Given the description of an element on the screen output the (x, y) to click on. 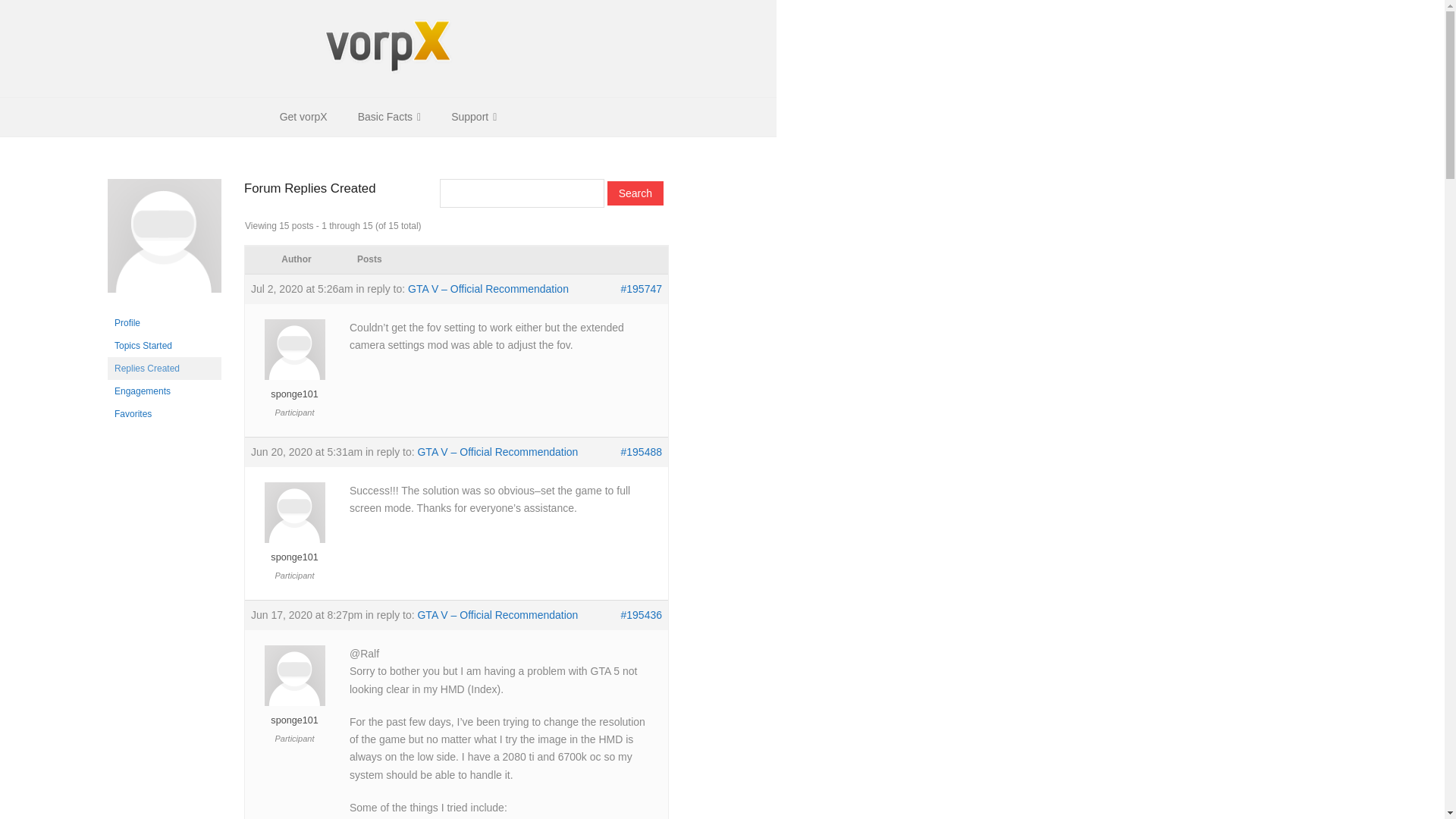
View sponge101's profile (293, 387)
Topics Started (164, 345)
sponge101 (293, 713)
Search (635, 192)
sponge101's Topics Started (164, 345)
sponge101's Replies Created (164, 368)
sponge101's Engagements (164, 391)
Profile (164, 323)
sponge101's Profile (164, 323)
View sponge101's profile (293, 550)
sponge101 (164, 304)
Support (473, 116)
Basic Facts (388, 116)
Get vorpX (303, 116)
sponge101's Favorites (164, 413)
